Given the description of an element on the screen output the (x, y) to click on. 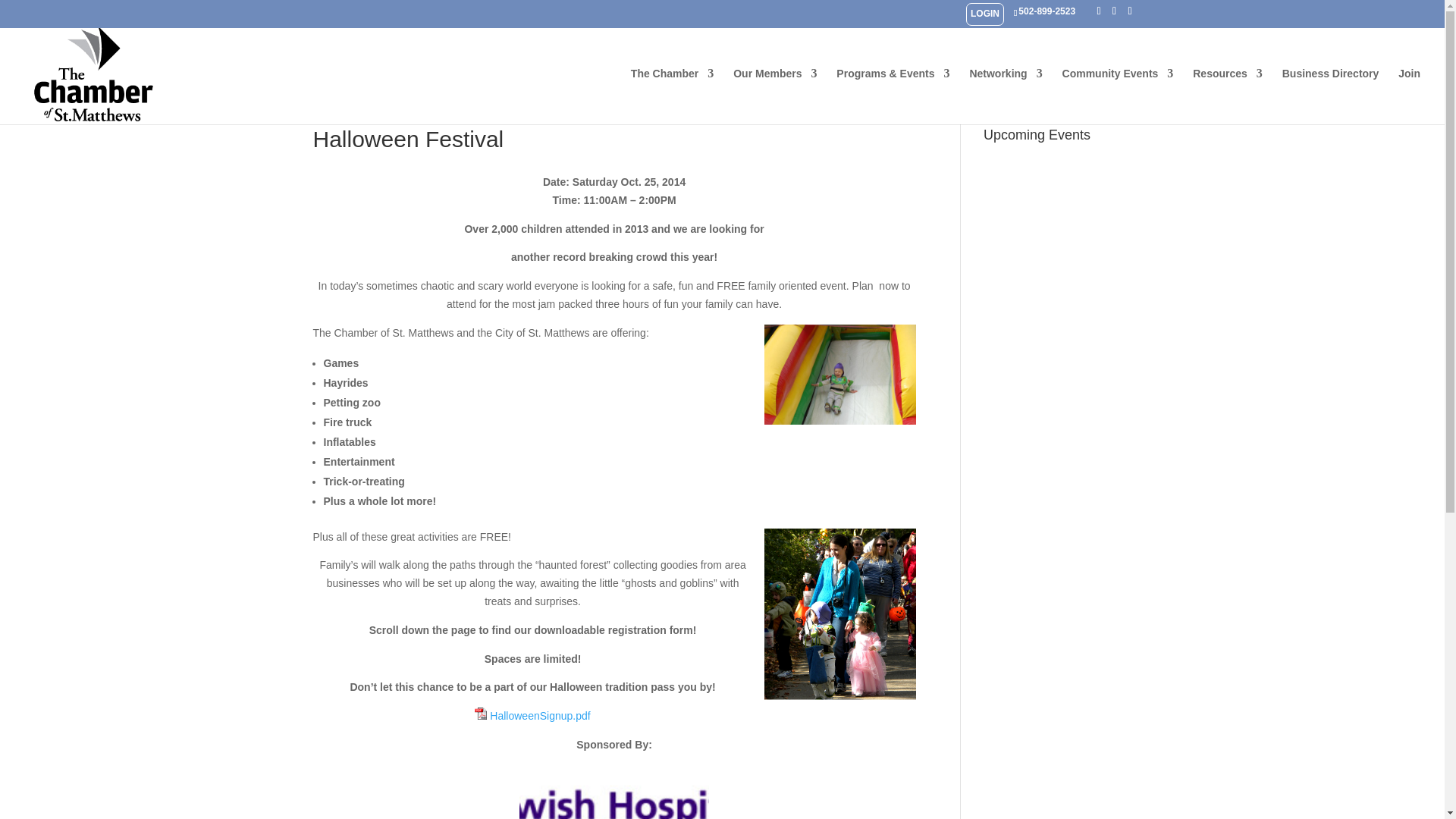
Networking (1005, 95)
Our Members (774, 95)
Community Events (1117, 95)
The Chamber (671, 95)
LOGIN (984, 14)
